Given the description of an element on the screen output the (x, y) to click on. 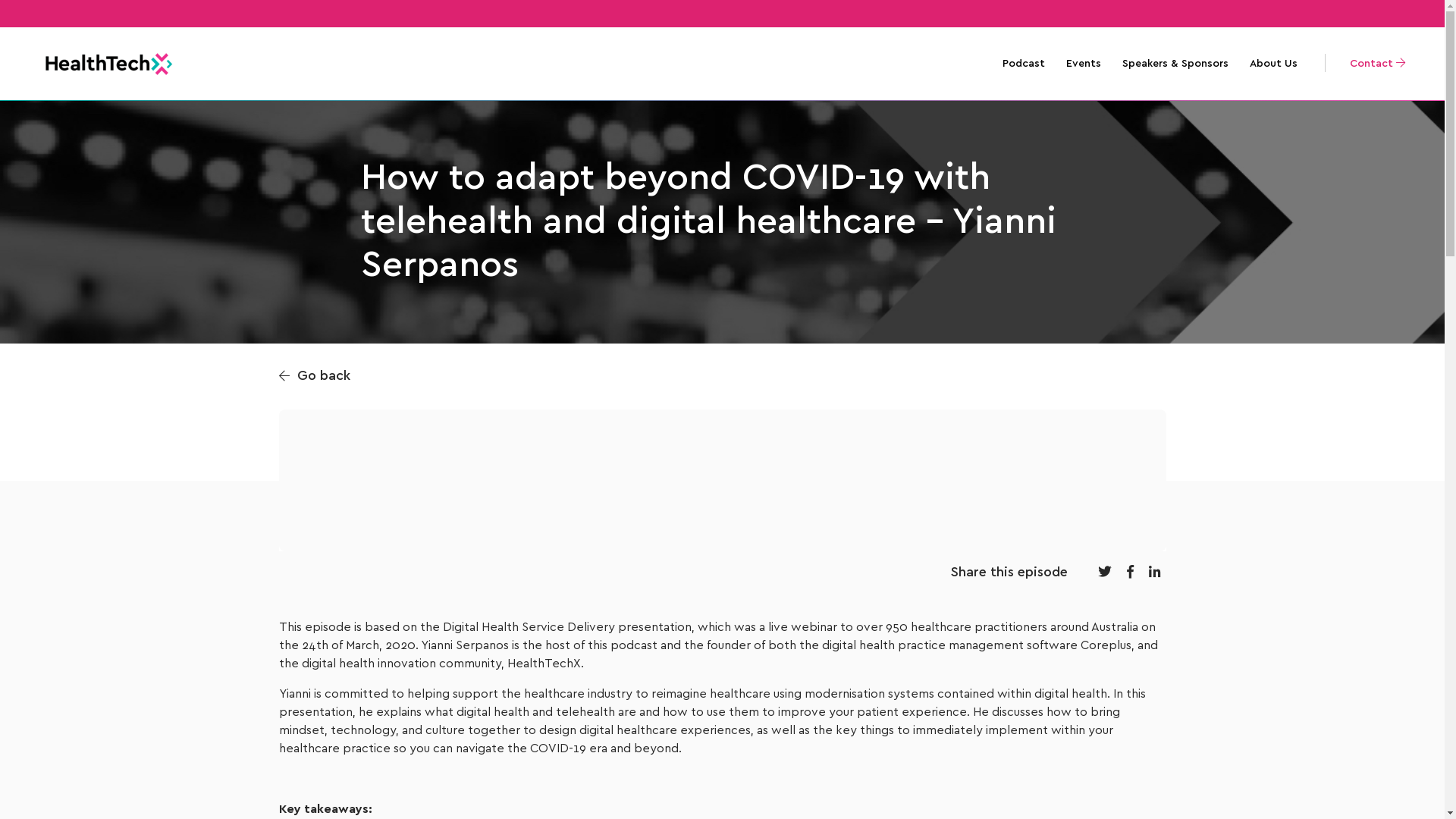
Contact Element type: text (1369, 64)
Go back Element type: text (314, 375)
Podcast Element type: text (1023, 64)
Events Element type: text (1083, 64)
About Us Element type: text (1273, 64)
Speakers & Sponsors Element type: text (1175, 64)
